Given the description of an element on the screen output the (x, y) to click on. 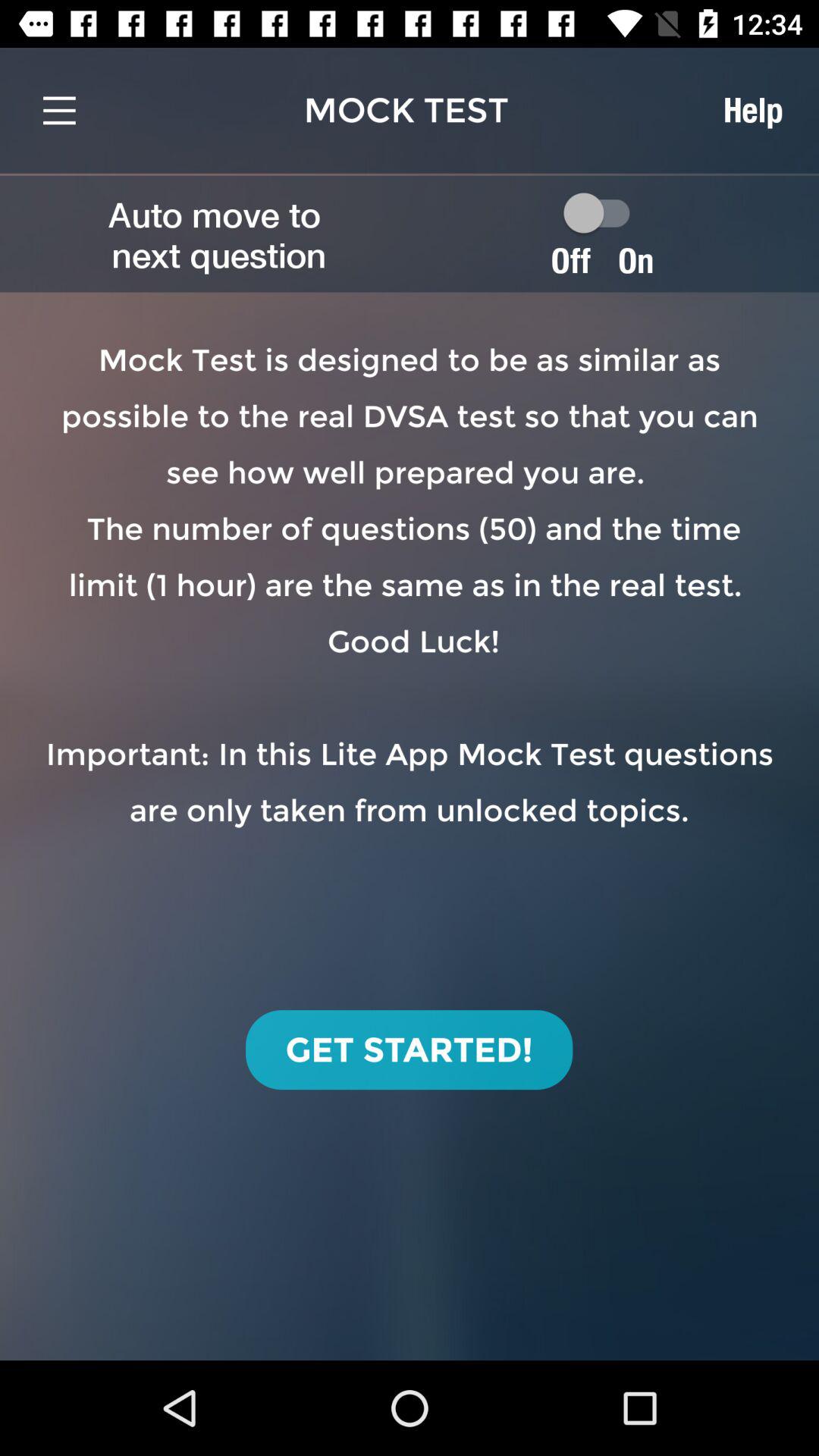
swipe until get started! (408, 1049)
